Given the description of an element on the screen output the (x, y) to click on. 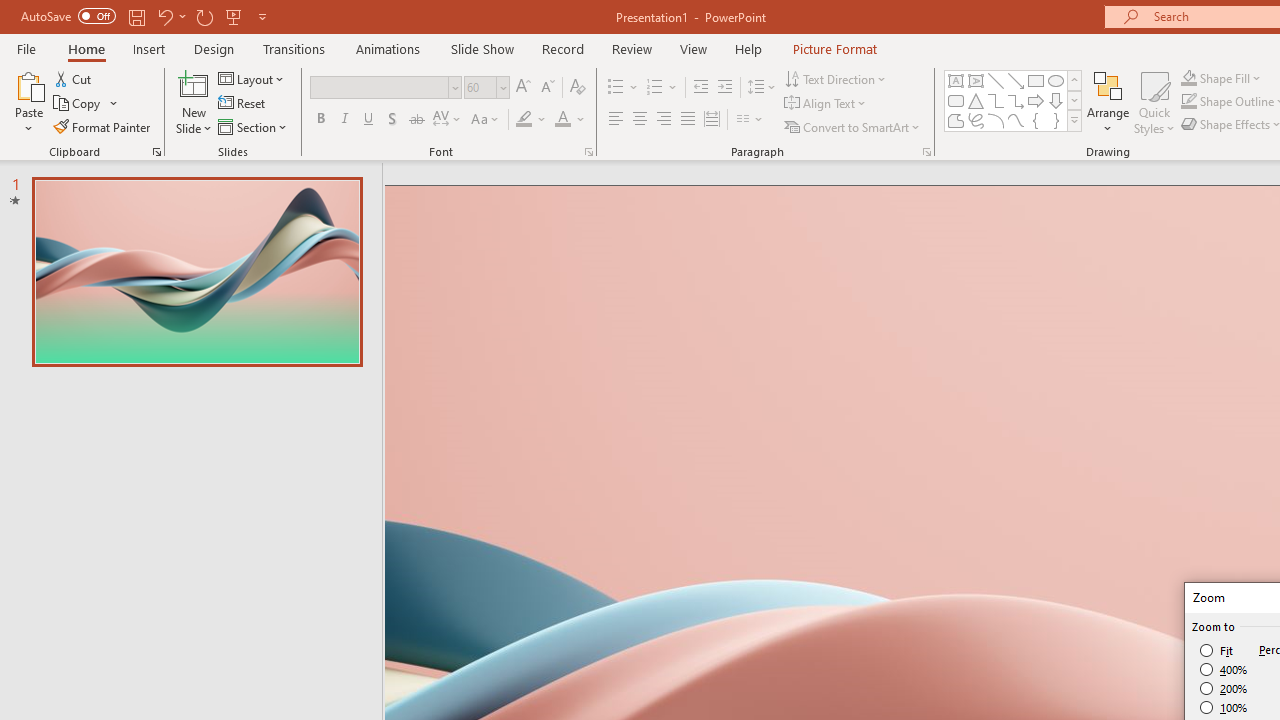
Shape Outline Blue, Accent 1 (1188, 101)
Text Highlight Color (531, 119)
Section (254, 126)
400% (1224, 669)
Line (995, 80)
Increase Indent (725, 87)
AutomationID: ShapesInsertGallery (1014, 100)
Underline (369, 119)
Shape Fill Orange, Accent 2 (1188, 78)
